Given the description of an element on the screen output the (x, y) to click on. 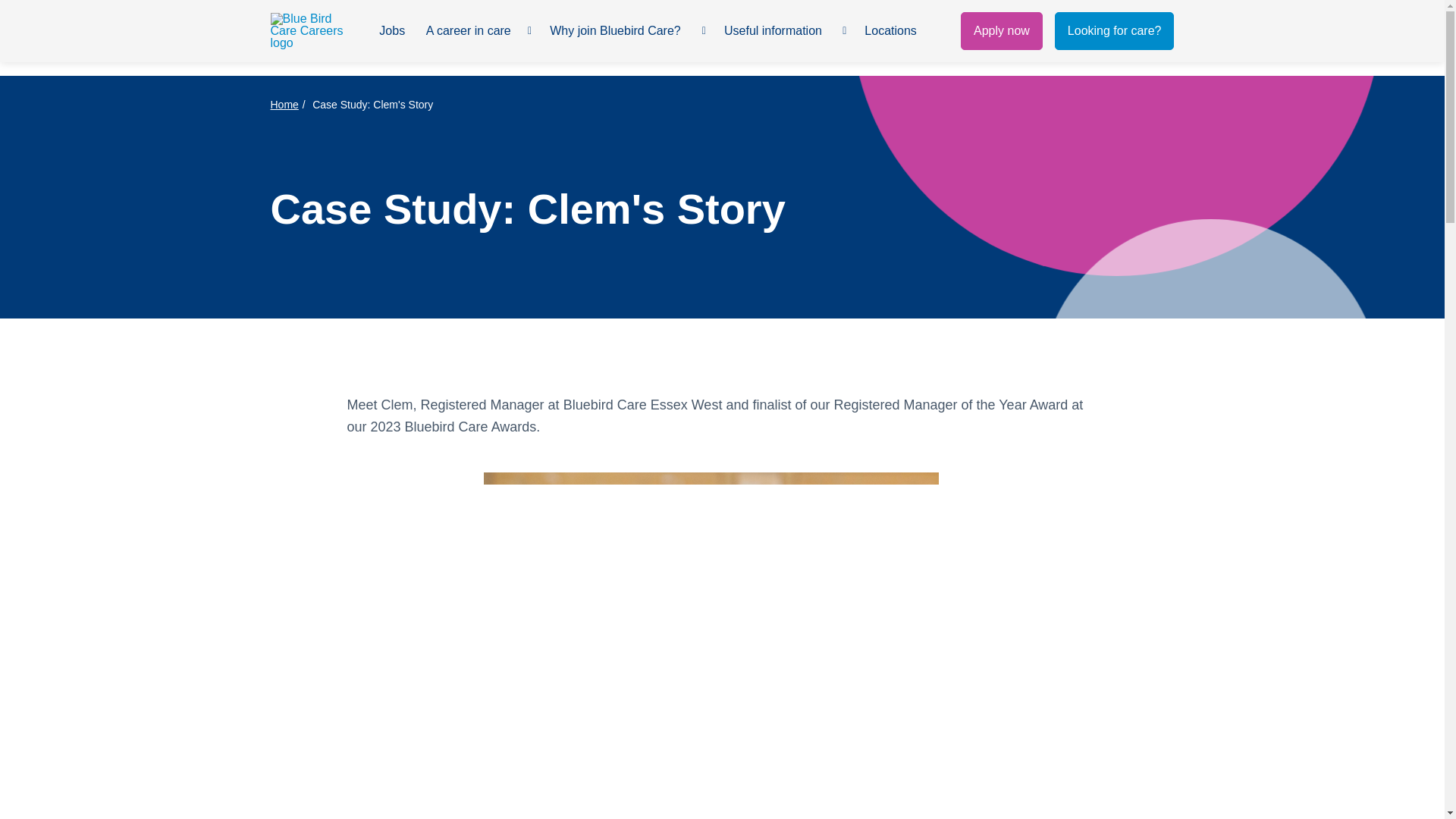
A career in care (471, 31)
Useful information (777, 31)
Apply now (1001, 30)
Locations (892, 31)
Locations (892, 31)
Looking for care? (1114, 30)
Why join Bluebird Care? (620, 31)
Jobs (392, 31)
Home (283, 104)
A career in care (471, 31)
